Given the description of an element on the screen output the (x, y) to click on. 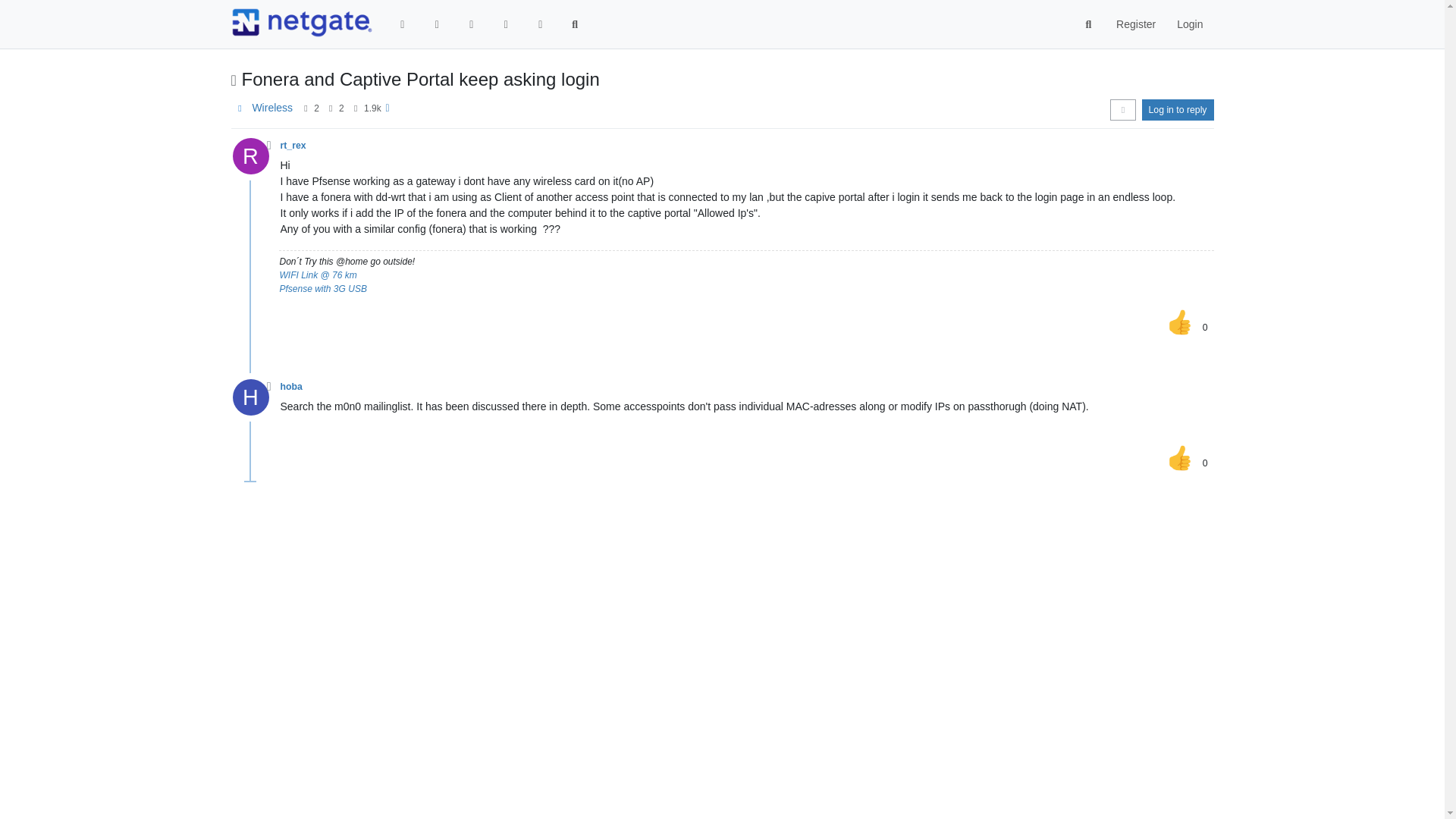
hoba (291, 386)
Users (539, 24)
H (255, 400)
R (255, 159)
Search (574, 24)
Wireless (271, 107)
Locked (232, 79)
Posts (330, 108)
2 (341, 108)
Login (1189, 24)
Posters (305, 108)
Categories (402, 24)
Tags (471, 24)
Popular (504, 24)
1933 (372, 108)
